Given the description of an element on the screen output the (x, y) to click on. 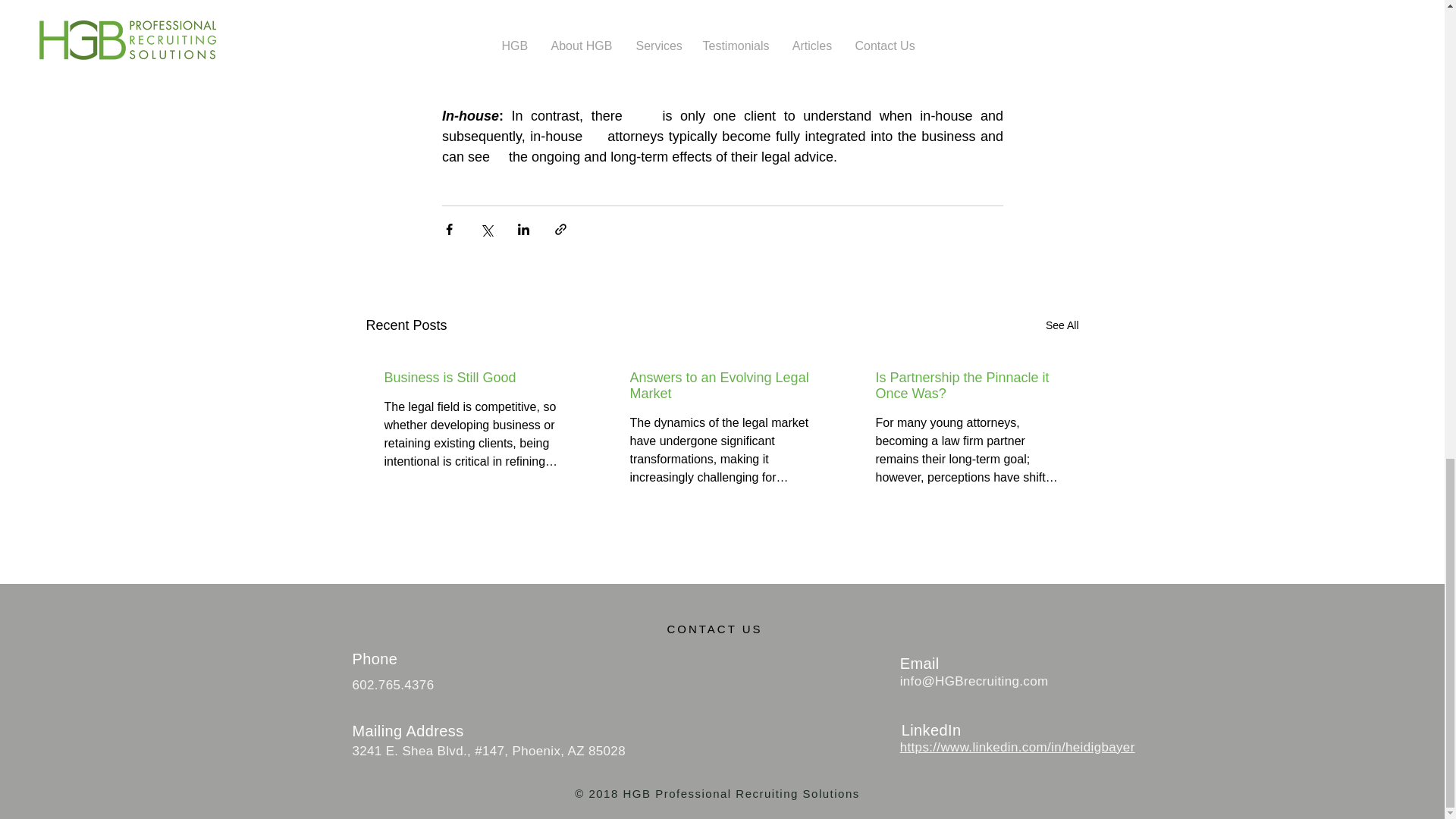
See All (1061, 325)
Business is Still Good (475, 377)
Answers to an Evolving Legal Market (720, 386)
Is Partnership the Pinnacle it Once Was? (966, 386)
